Given the description of an element on the screen output the (x, y) to click on. 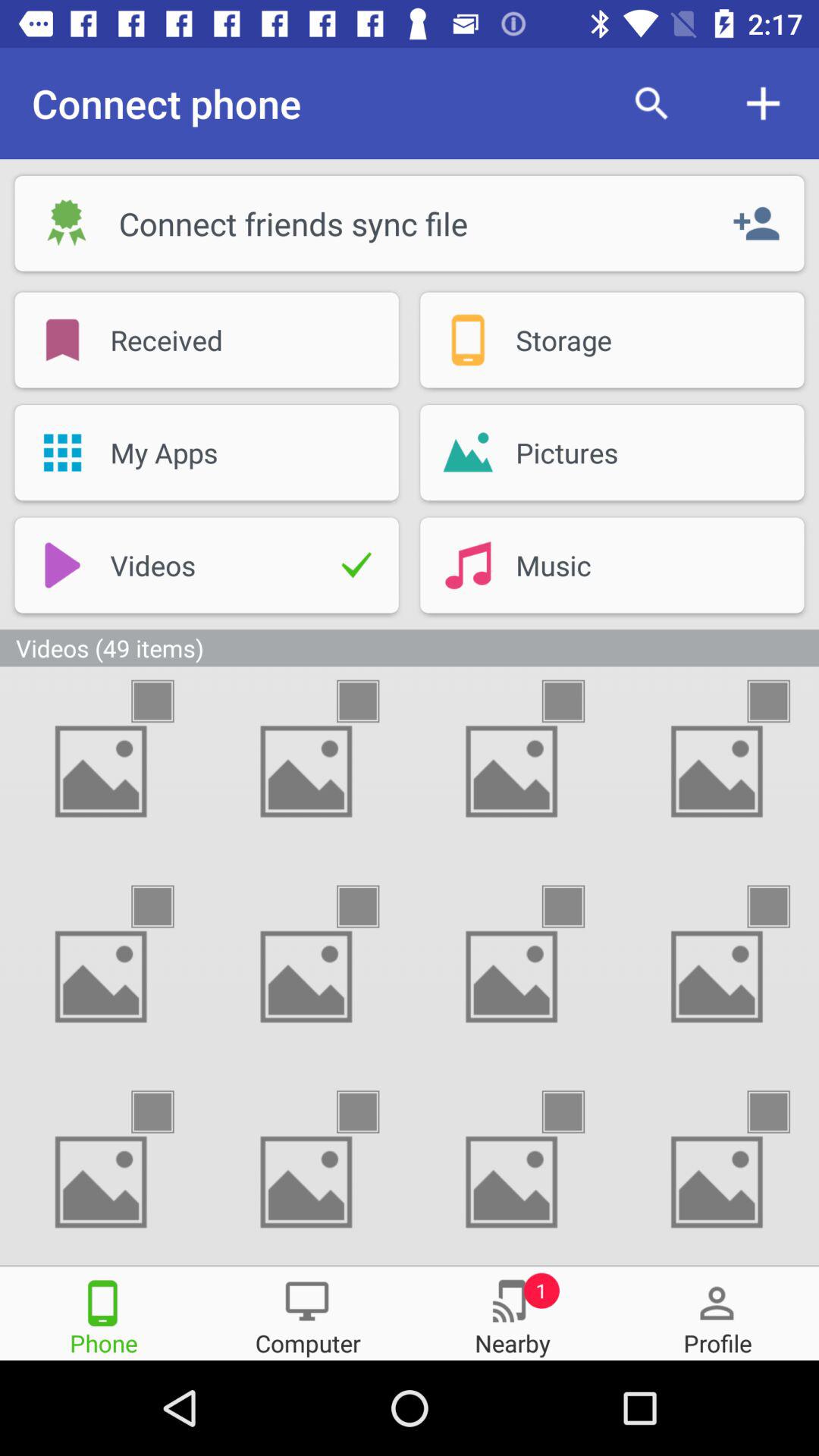
click to photo option (782, 906)
